Given the description of an element on the screen output the (x, y) to click on. 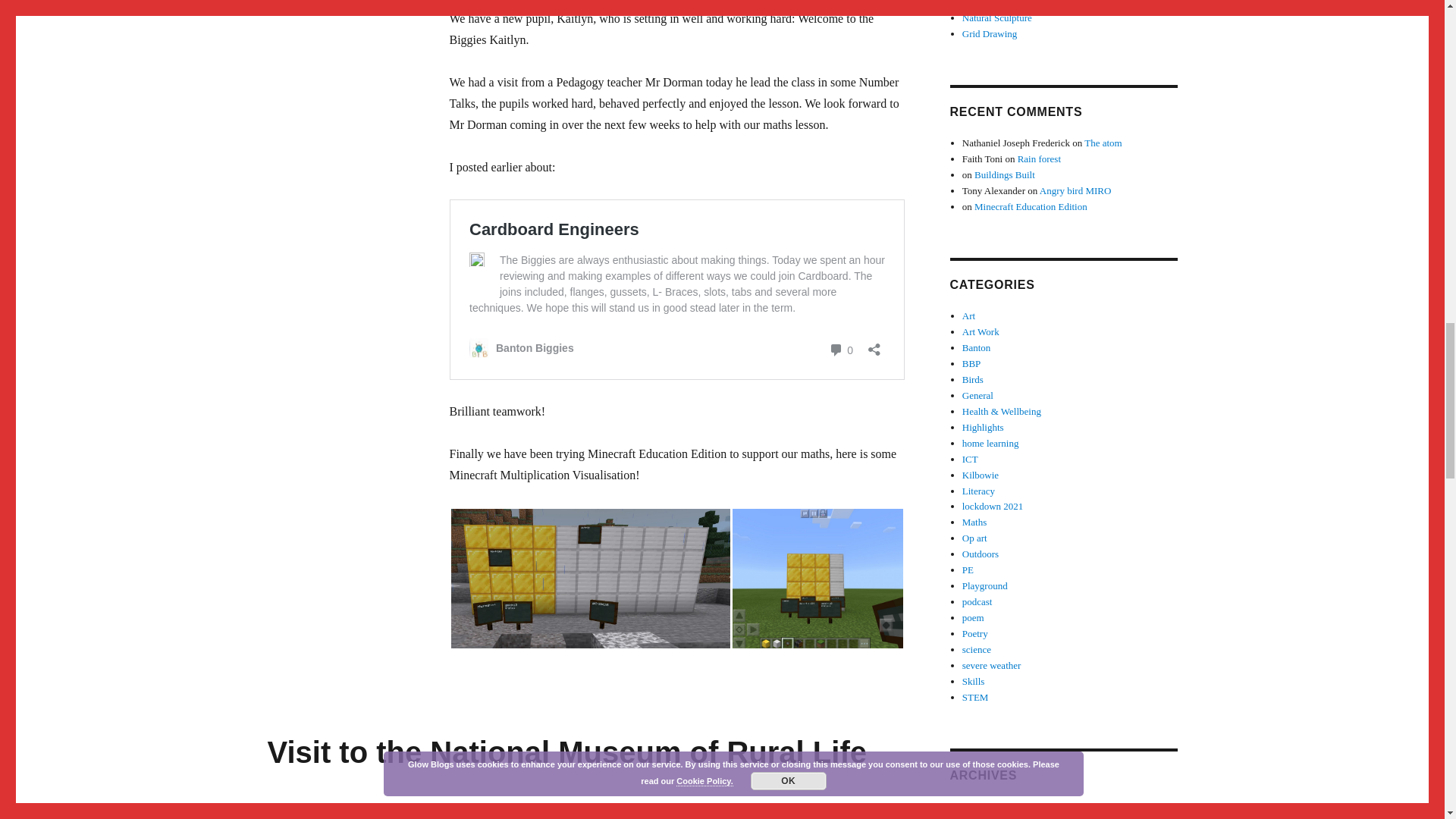
rhu-minecraft (589, 578)
ben-minecraft (817, 578)
Visit to the National Museum of Rural Life (566, 752)
